Given the description of an element on the screen output the (x, y) to click on. 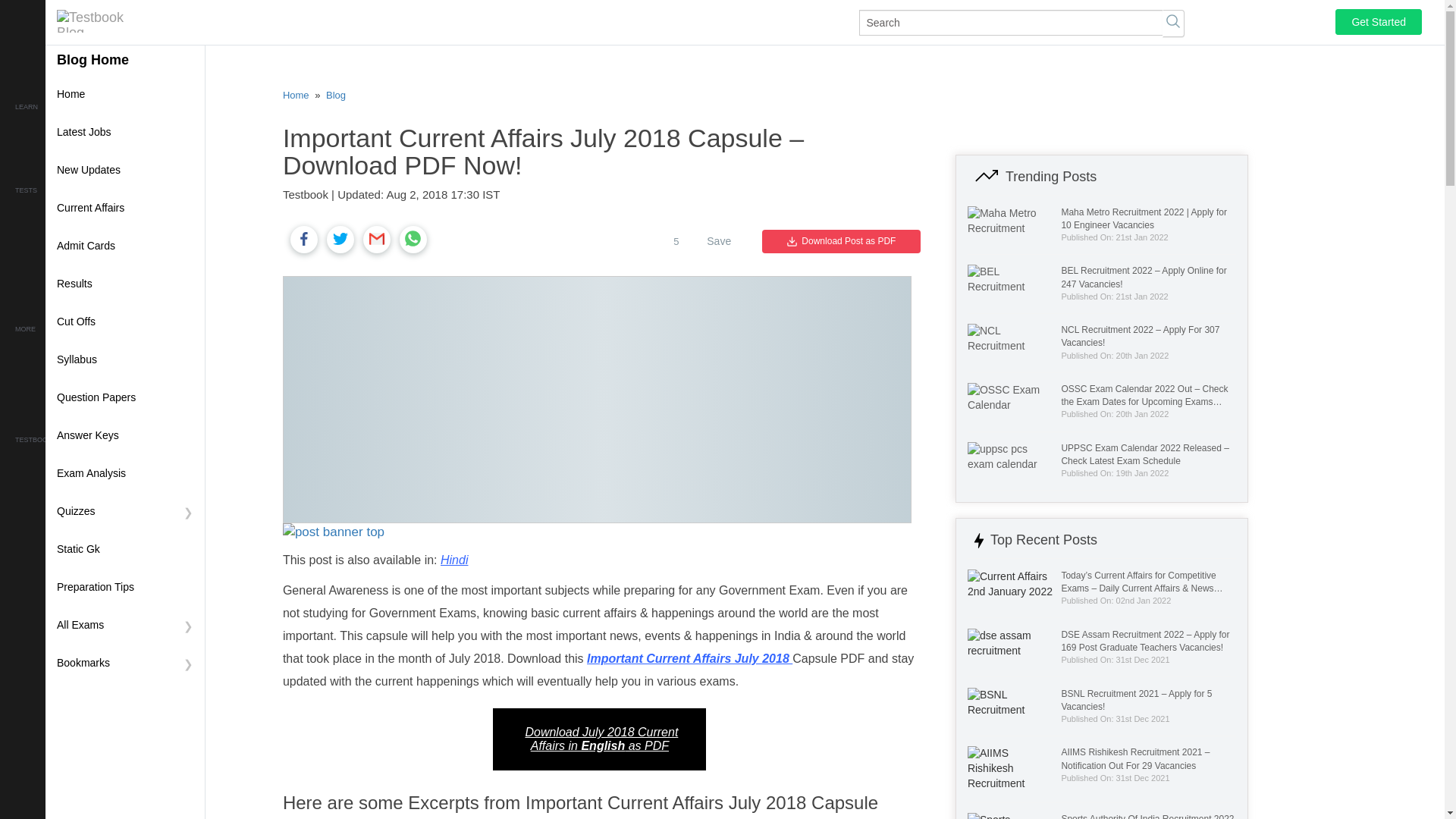
Test Series (75, 215)
Exams (75, 353)
Syllabus (125, 360)
Go to Blog. (336, 94)
Skill Academy (75, 158)
Doubts (75, 380)
Quizzes (125, 511)
Pass (75, 464)
Previous Year Papers (75, 242)
SuperCoaching (75, 131)
